Given the description of an element on the screen output the (x, y) to click on. 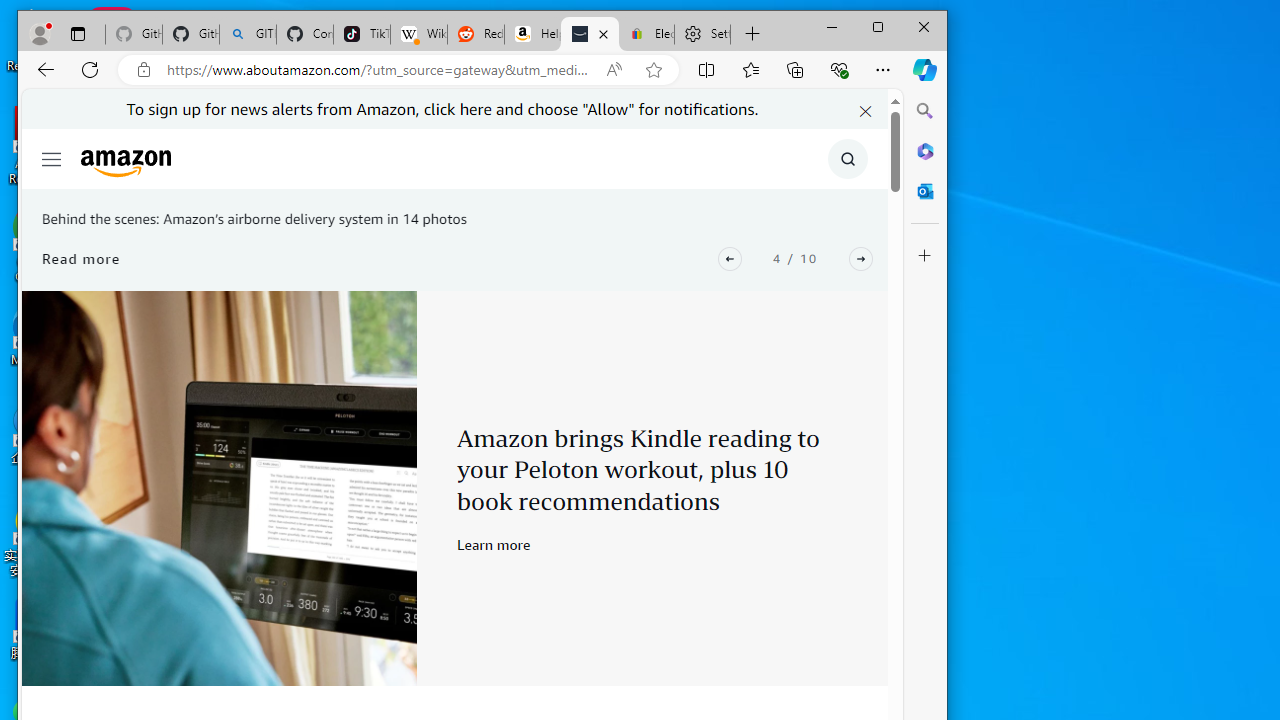
Search (925, 110)
Tab actions menu (77, 34)
Maximize (878, 26)
GITHUB - Search (248, 34)
Peloton x Kindle (219, 488)
